Given the description of an element on the screen output the (x, y) to click on. 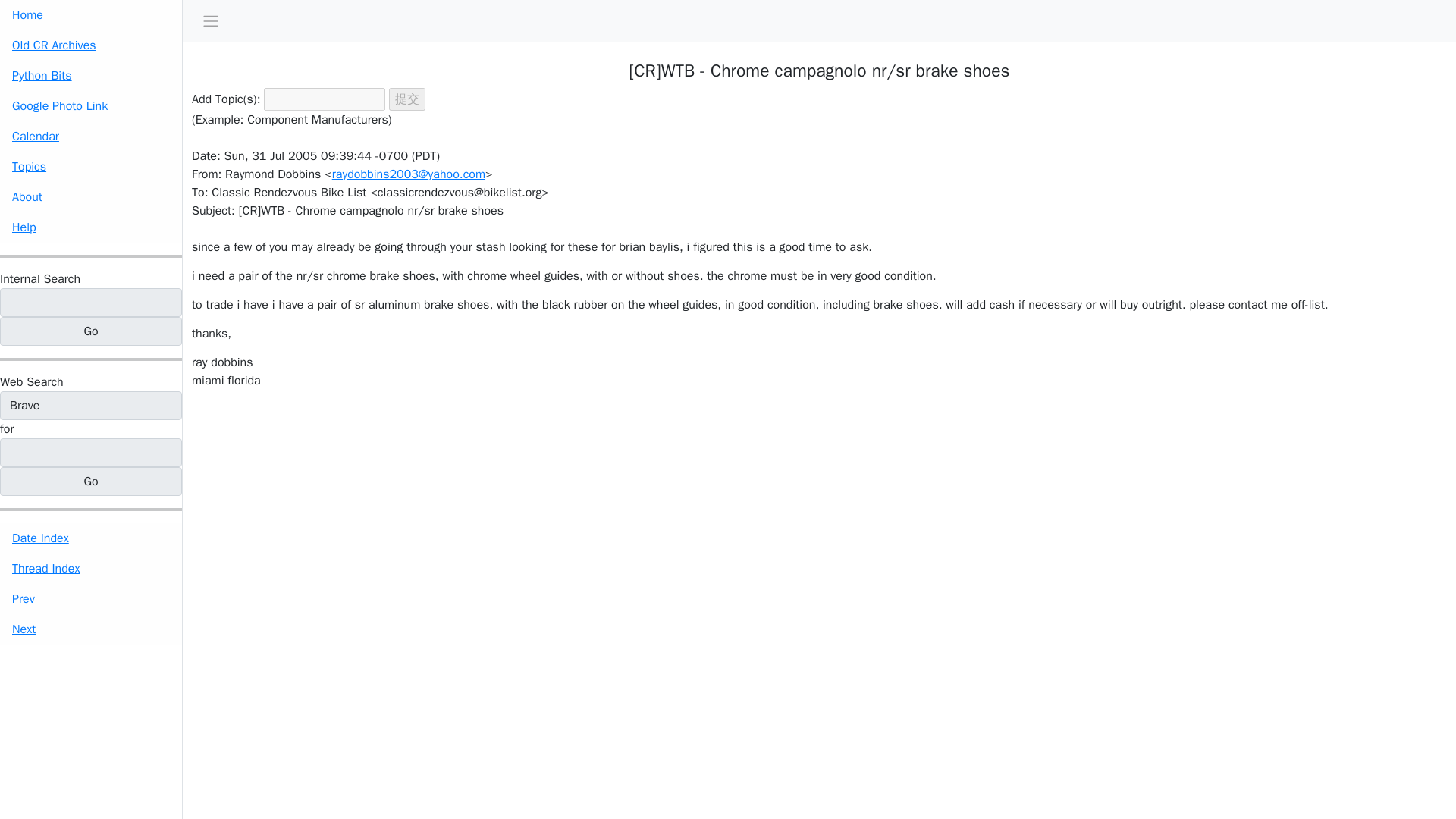
Help (91, 227)
Go (91, 481)
Next (91, 629)
Calendar (91, 136)
Home (91, 15)
Enter a word or phrase to search the archive. (40, 279)
Thread Index (91, 568)
Google Photo Link (91, 105)
Go (91, 481)
Go (91, 330)
